Given the description of an element on the screen output the (x, y) to click on. 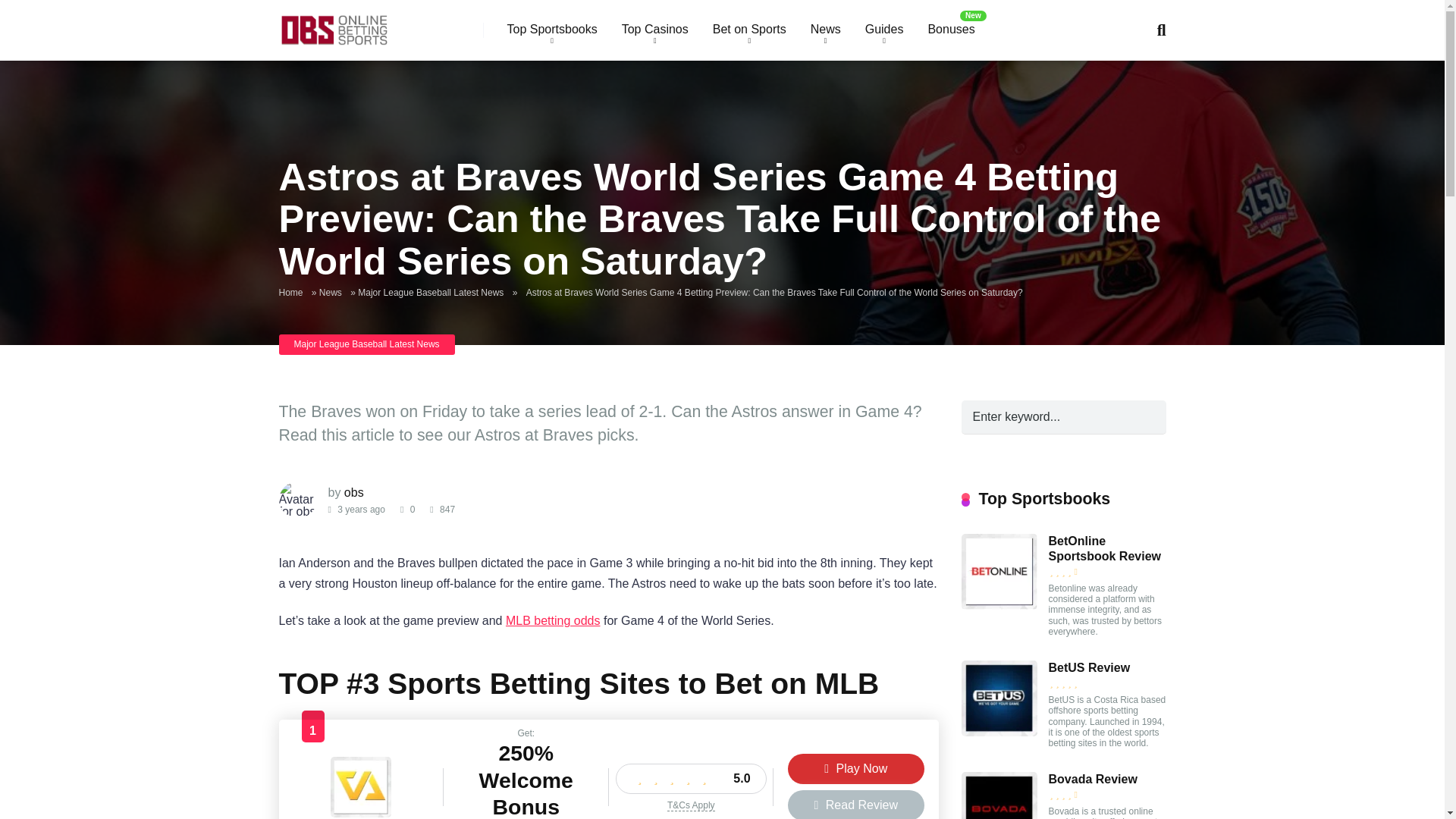
Gravatar for obs (298, 499)
Read Review (855, 804)
Bet on Sports (748, 30)
Top Sportsbooks (551, 30)
Top Casinos (655, 30)
BetOnline Sportsbook Review (998, 604)
Vegas Aces Casino (360, 812)
Posts by obs (353, 492)
Play Now (855, 768)
